Given the description of an element on the screen output the (x, y) to click on. 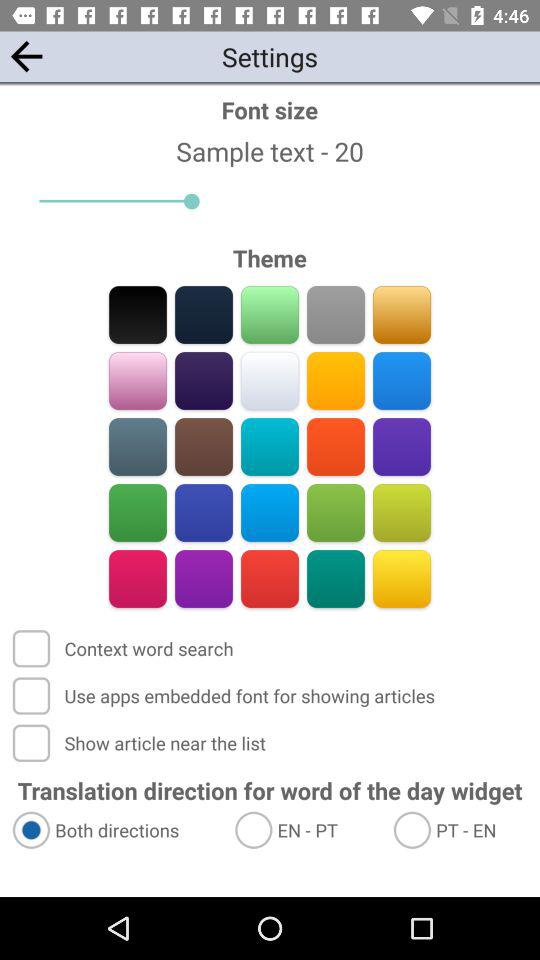
color selection (137, 578)
